Given the description of an element on the screen output the (x, y) to click on. 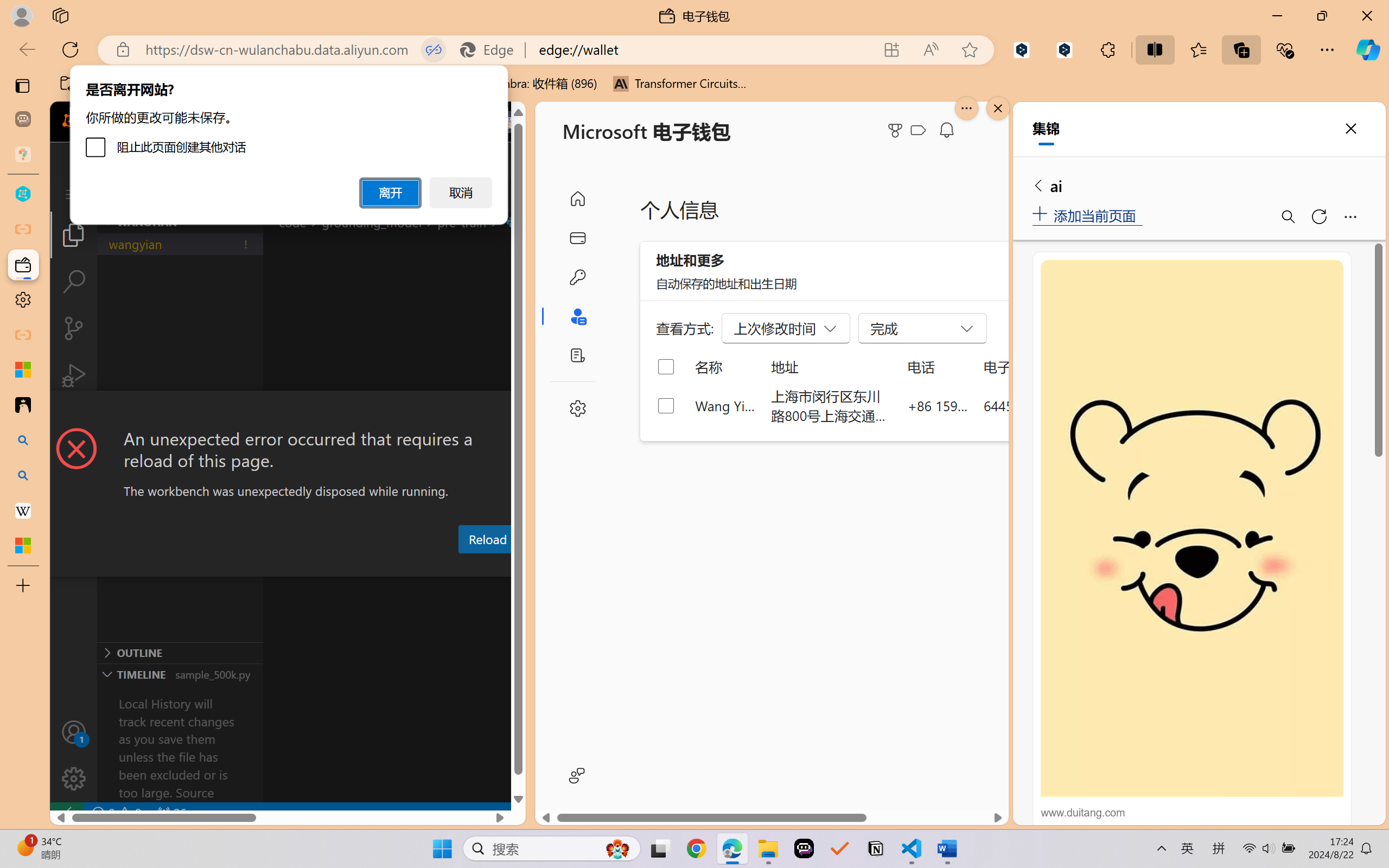
Google Chrome (696, 848)
Microsoft Rewards (896, 129)
Problems (Ctrl+Shift+M) (308, 565)
